Given the description of an element on the screen output the (x, y) to click on. 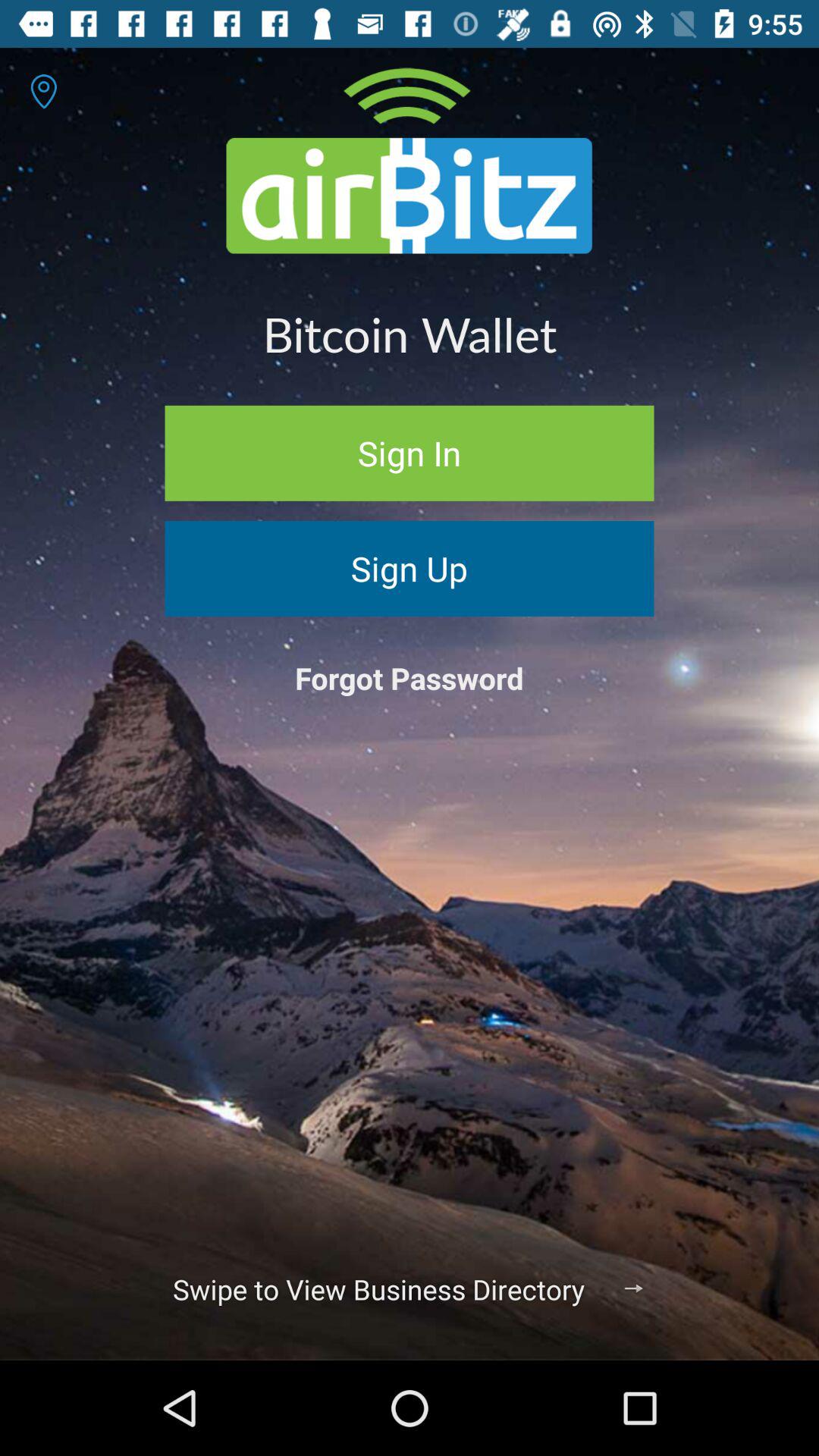
launch sign up icon (409, 568)
